Given the description of an element on the screen output the (x, y) to click on. 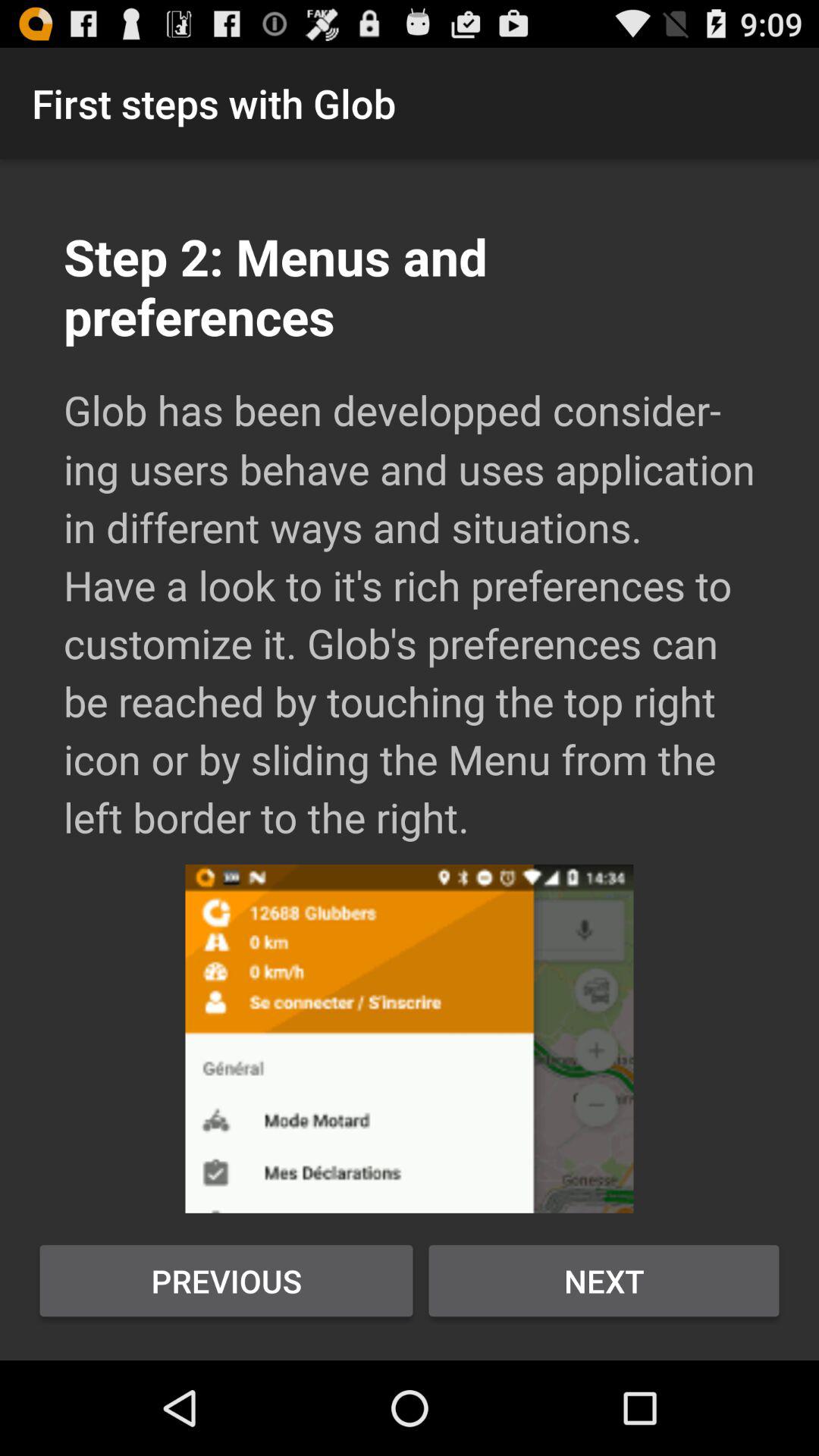
click icon to the left of the next item (225, 1280)
